Given the description of an element on the screen output the (x, y) to click on. 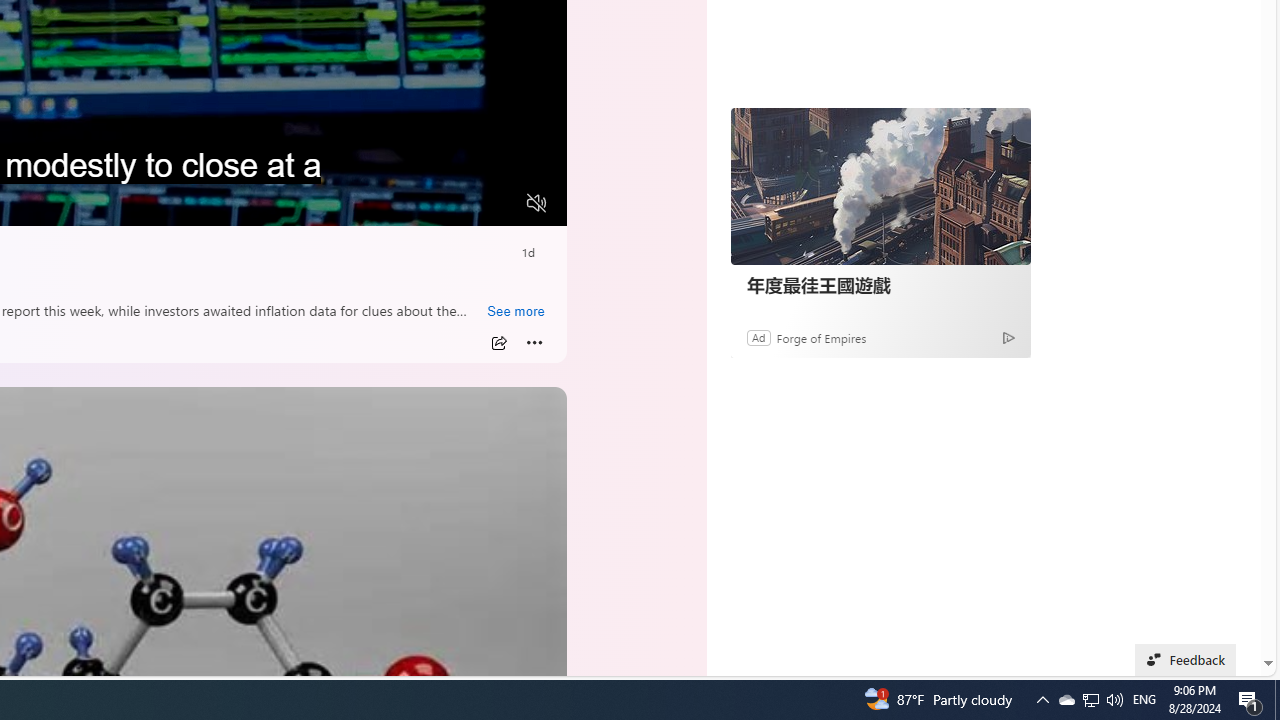
Captions (457, 203)
More (534, 343)
Unmute (535, 203)
See more (515, 312)
Fullscreen (497, 203)
Feedback (1185, 659)
Quality Settings (418, 203)
Forge of Empires (820, 337)
Ad (758, 337)
Ad Choice (1008, 336)
Share (498, 343)
Share (498, 343)
